Given the description of an element on the screen output the (x, y) to click on. 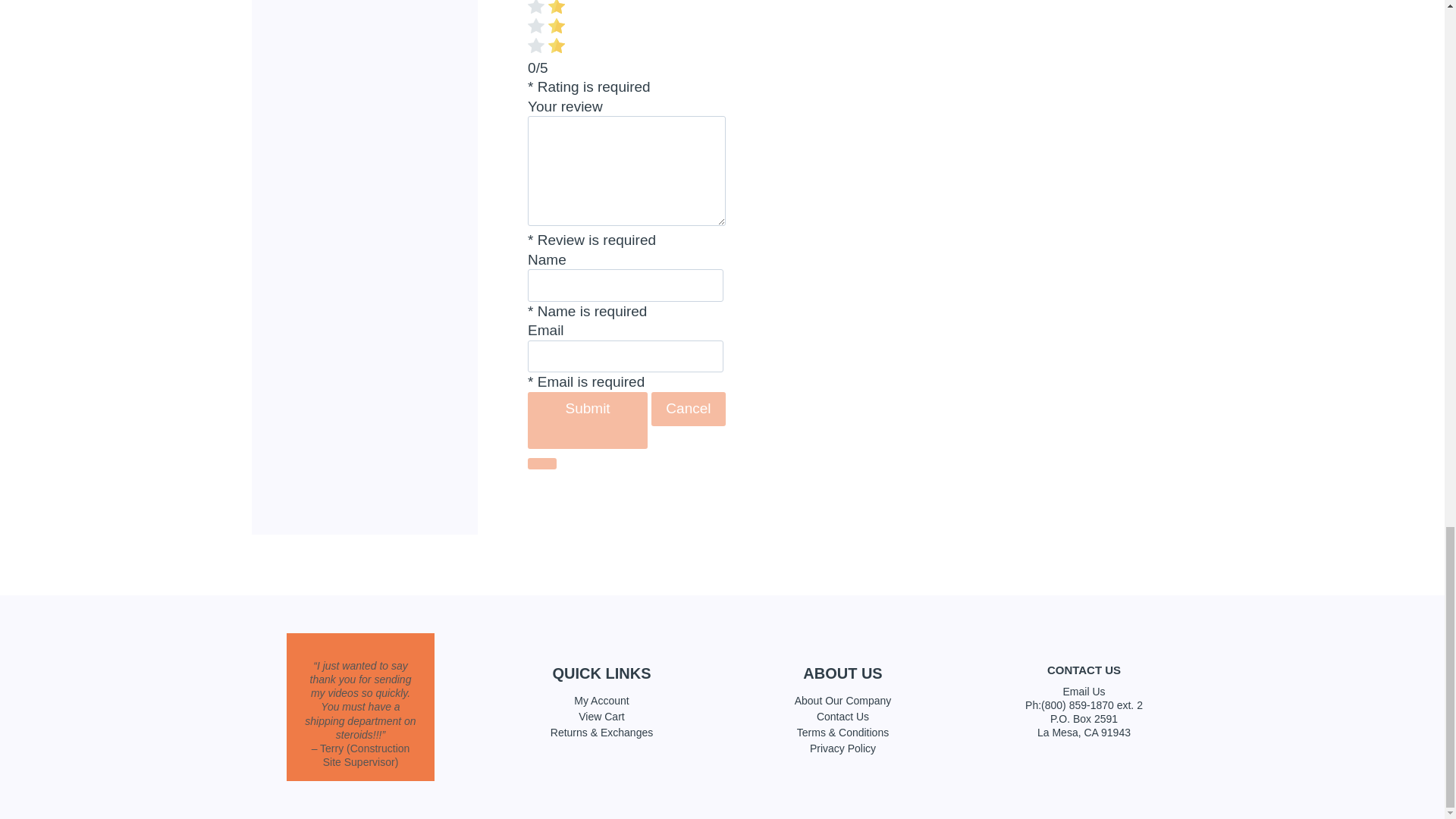
Cancel (687, 409)
Submit (587, 420)
